Given the description of an element on the screen output the (x, y) to click on. 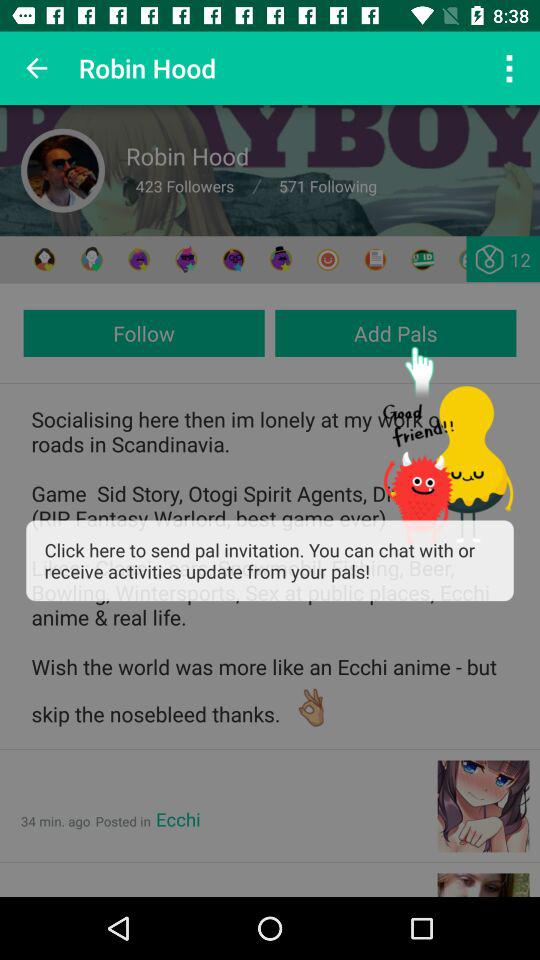
go to persons profile (63, 170)
